Given the description of an element on the screen output the (x, y) to click on. 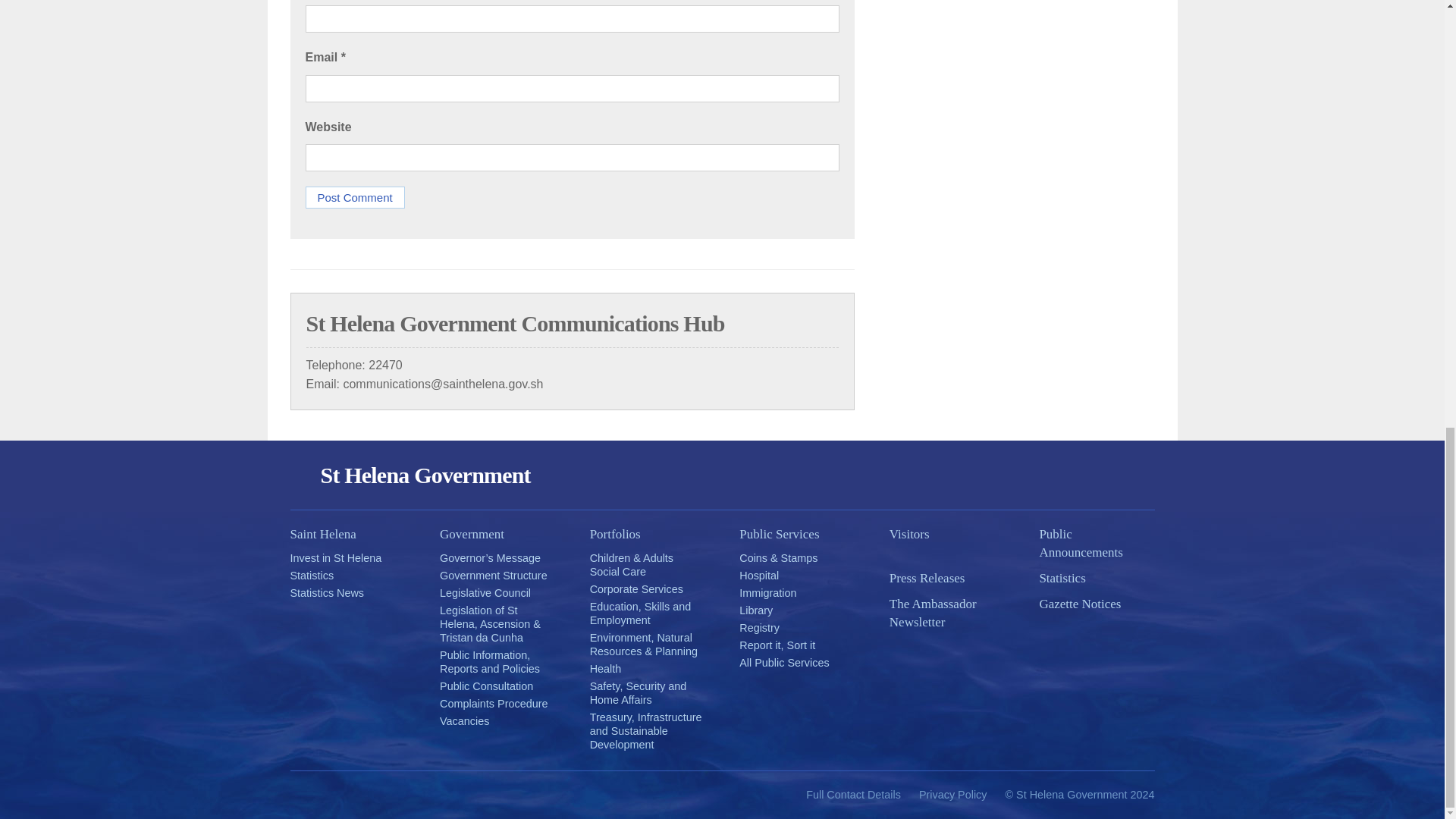
Post Comment (354, 197)
Information for visitors (946, 534)
Information for investors (335, 558)
